Given the description of an element on the screen output the (x, y) to click on. 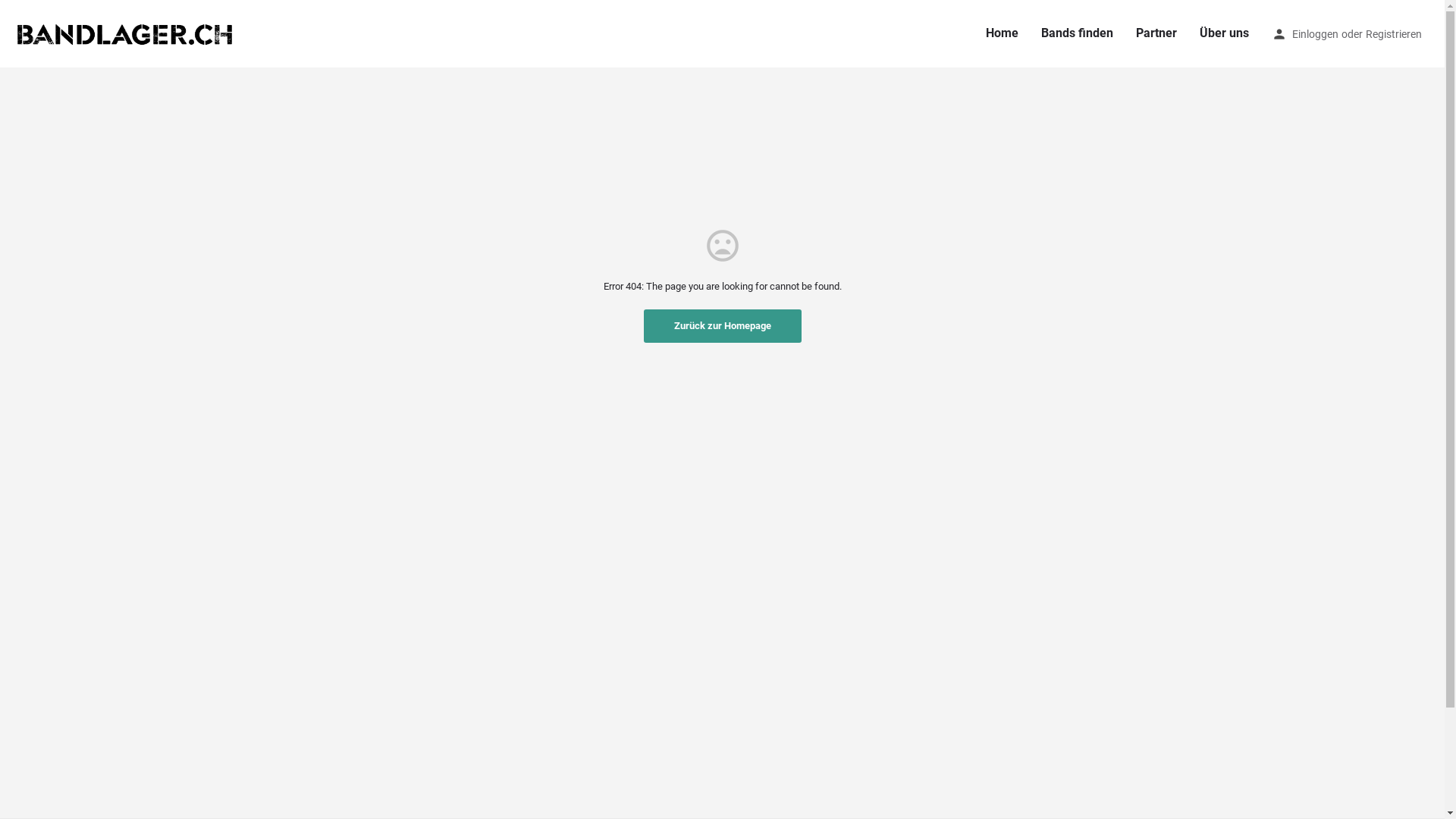
Bands finden Element type: text (1077, 33)
Partner Element type: text (1155, 33)
outperform Element type: text (818, 783)
Einloggen Element type: text (1315, 33)
Home Element type: text (1001, 33)
Registrieren Element type: text (1393, 33)
